Given the description of an element on the screen output the (x, y) to click on. 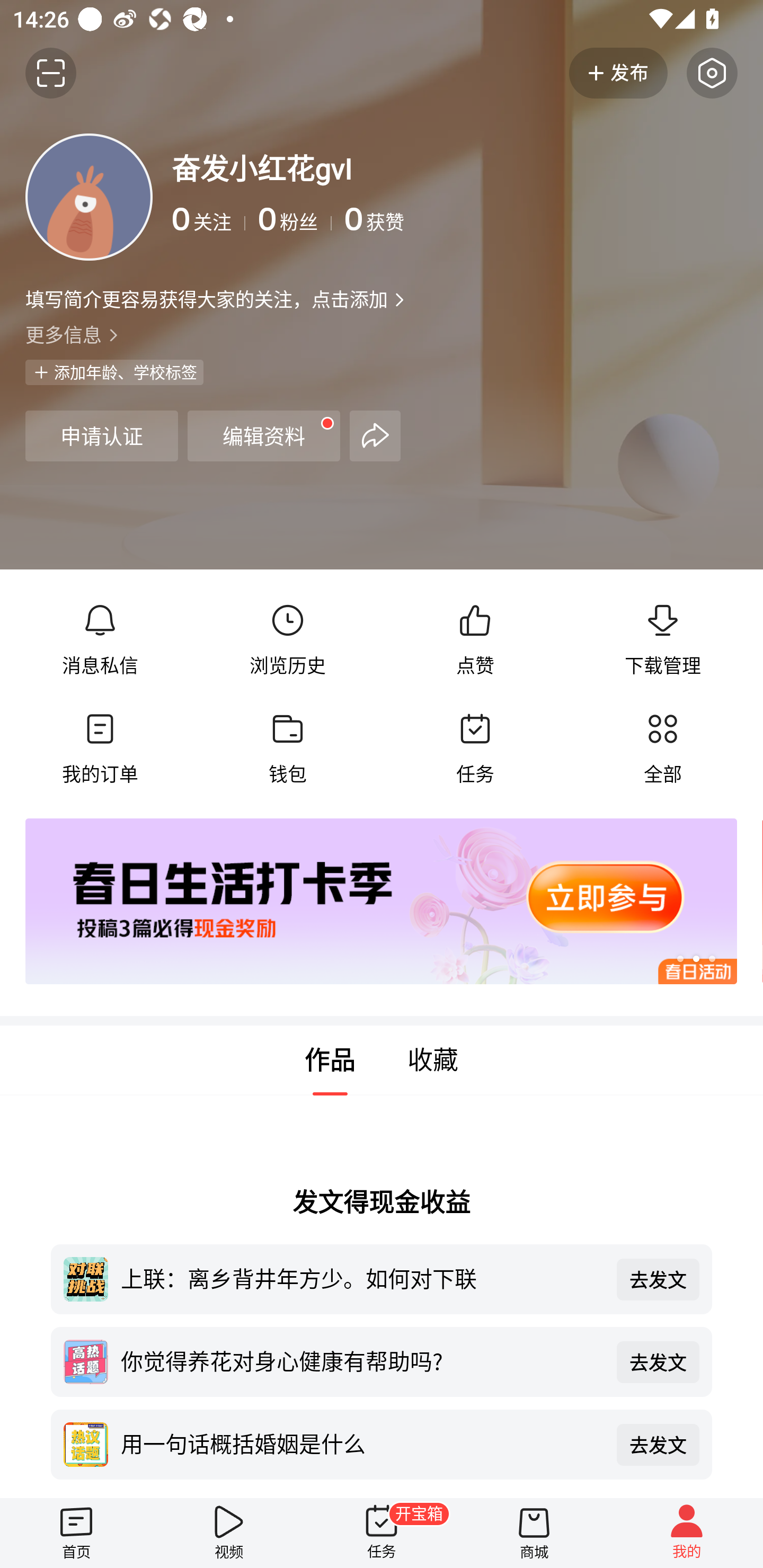
扫一扫 (50, 72)
发布 (618, 72)
设置 (711, 72)
头像 (88, 196)
0 关注 (208, 219)
0 粉丝 (294, 219)
0 获赞 (540, 219)
填写简介更容易获得大家的关注，点击添加 (206, 298)
更多信息 (381, 333)
添加年龄、学校标签 (114, 372)
申请认证 (101, 435)
编辑资料 (263, 435)
分享 (374, 435)
消息私信 (99, 639)
浏览历史 (287, 639)
点赞 (475, 639)
下载管理 (662, 639)
我的订单 (99, 748)
钱包 (287, 748)
任务 (475, 748)
全部 (662, 748)
图片链接 (368, 901)
作品 (329, 1060)
收藏 (432, 1060)
上联：离乡背井年方少。如何对下联 (362, 1278)
去发文 (657, 1279)
你觉得养花对身心健康有帮助吗? (362, 1360)
去发文 (657, 1361)
用一句话概括婚姻是什么 (362, 1443)
去发文 (657, 1444)
首页 (76, 1532)
视频 (228, 1532)
任务 开宝箱 (381, 1532)
商城 (533, 1532)
我的 (686, 1532)
